Given the description of an element on the screen output the (x, y) to click on. 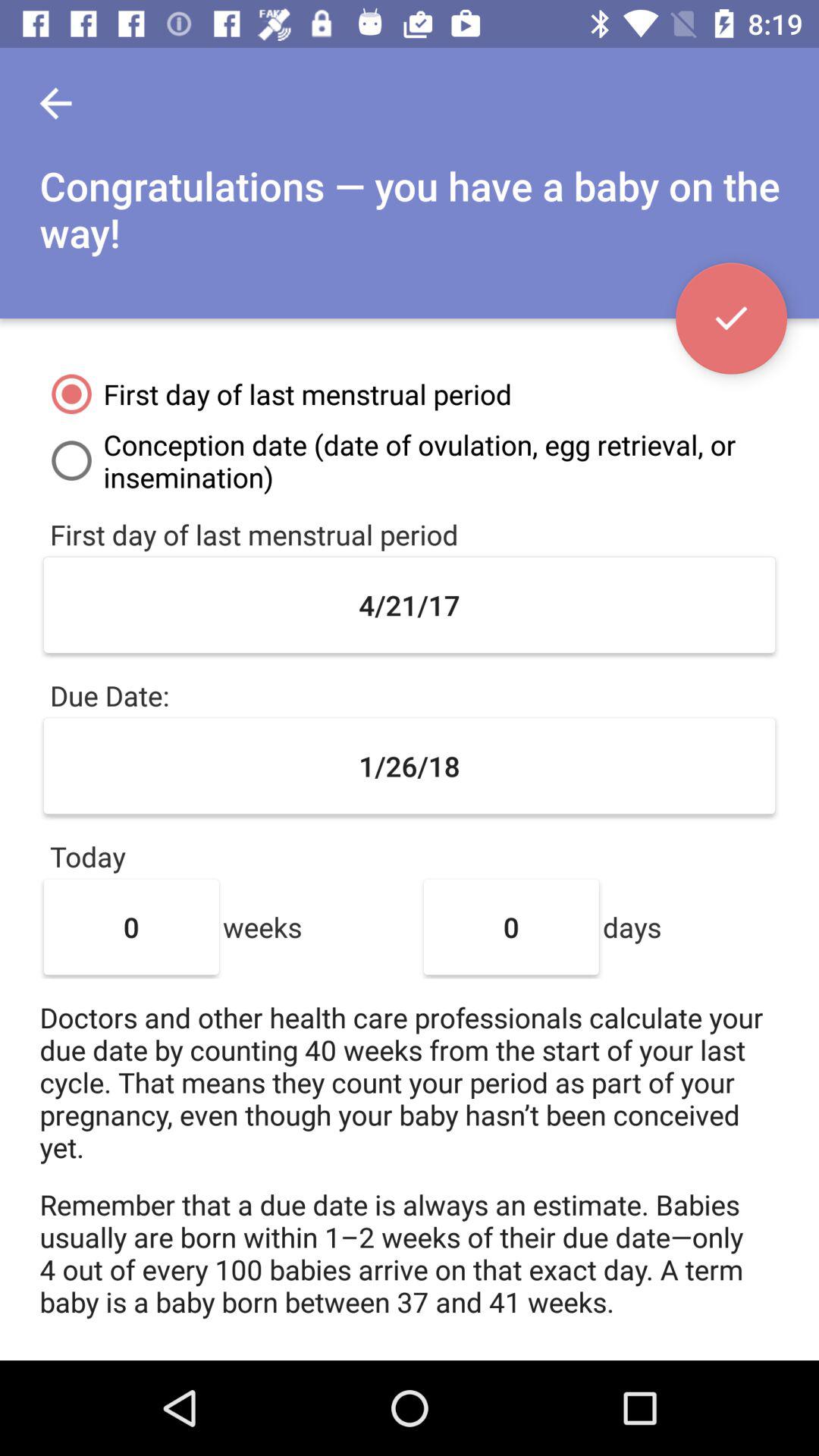
turn on the item above due date: (409, 604)
